Given the description of an element on the screen output the (x, y) to click on. 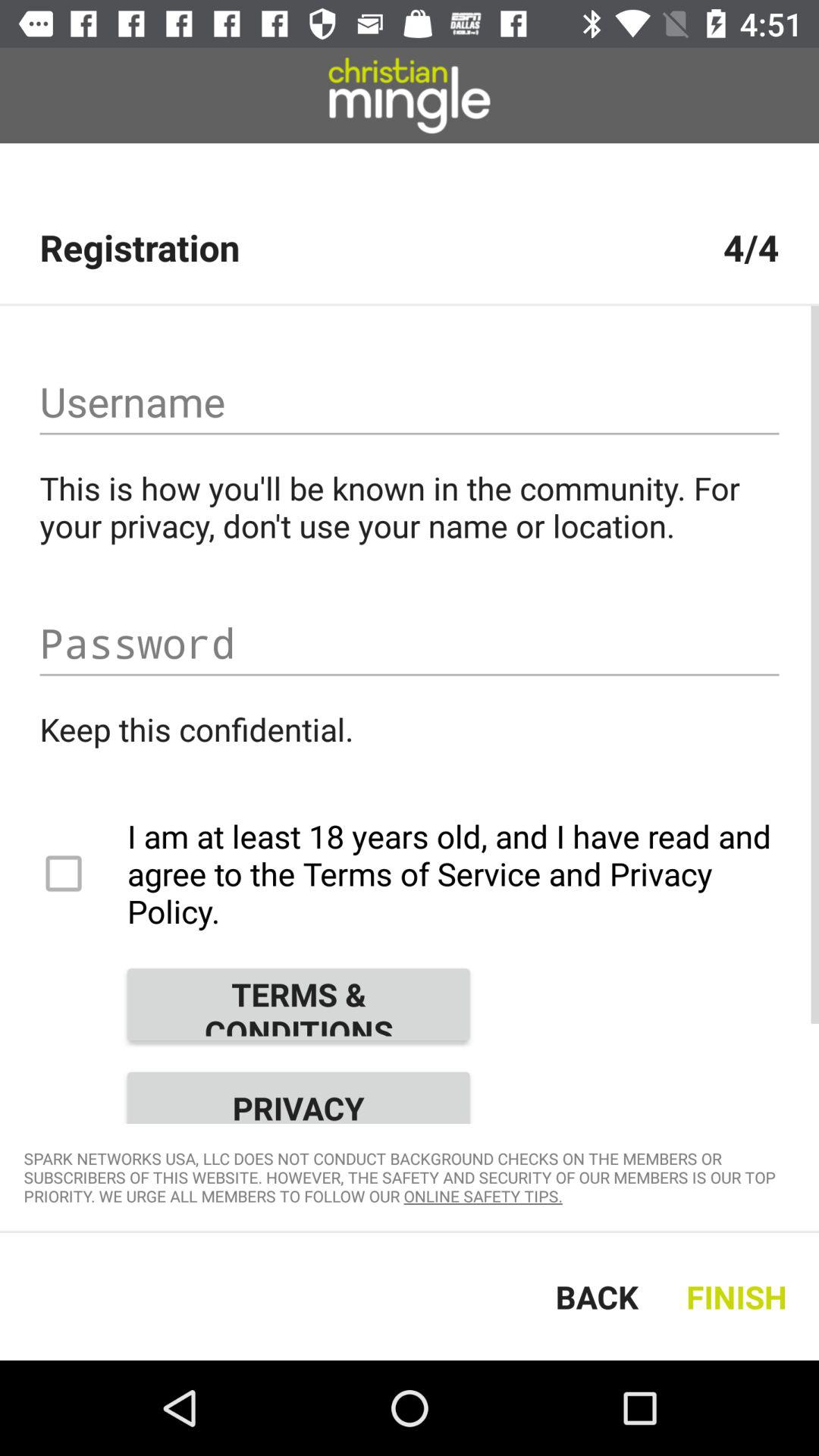
enter username (409, 401)
